Given the description of an element on the screen output the (x, y) to click on. 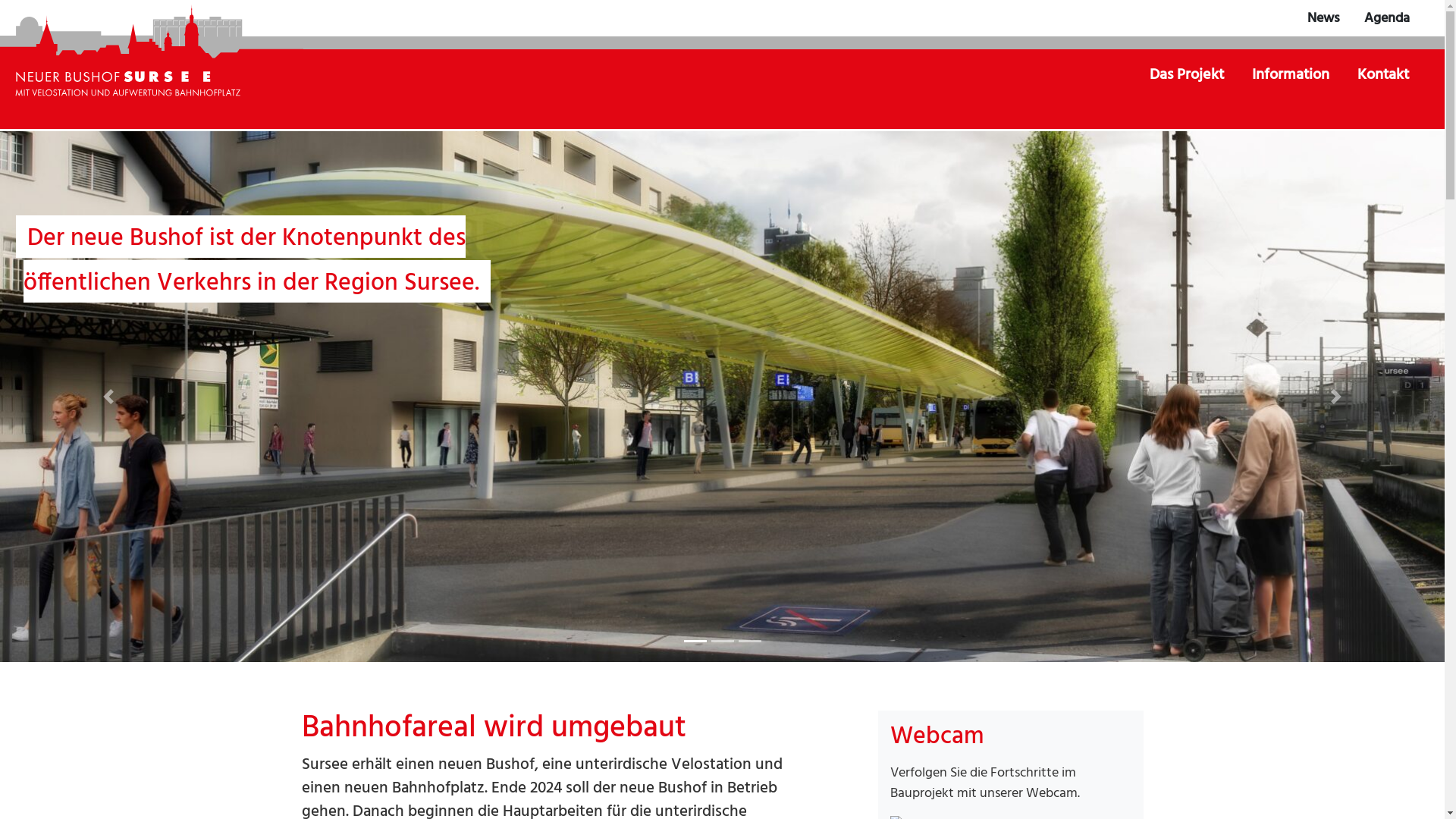
vor Element type: text (108, 396)
Das Projekt Element type: text (1187, 74)
News Element type: text (1323, 18)
Agenda Element type: text (1386, 18)
Kontakt Element type: text (1382, 74)
Information Element type: text (1291, 74)
